Given the description of an element on the screen output the (x, y) to click on. 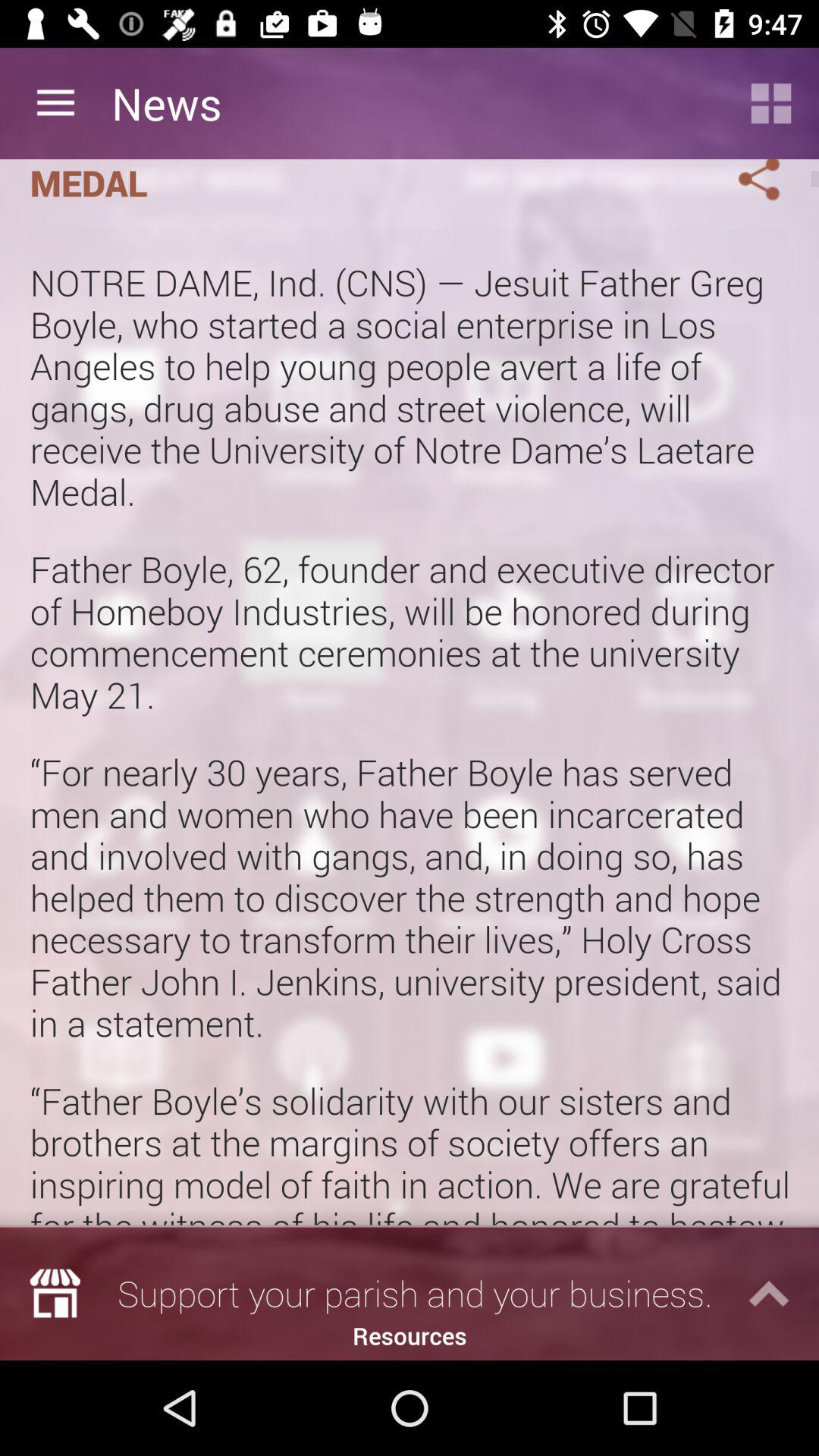
launch icon at the top left corner (55, 103)
